Given the description of an element on the screen output the (x, y) to click on. 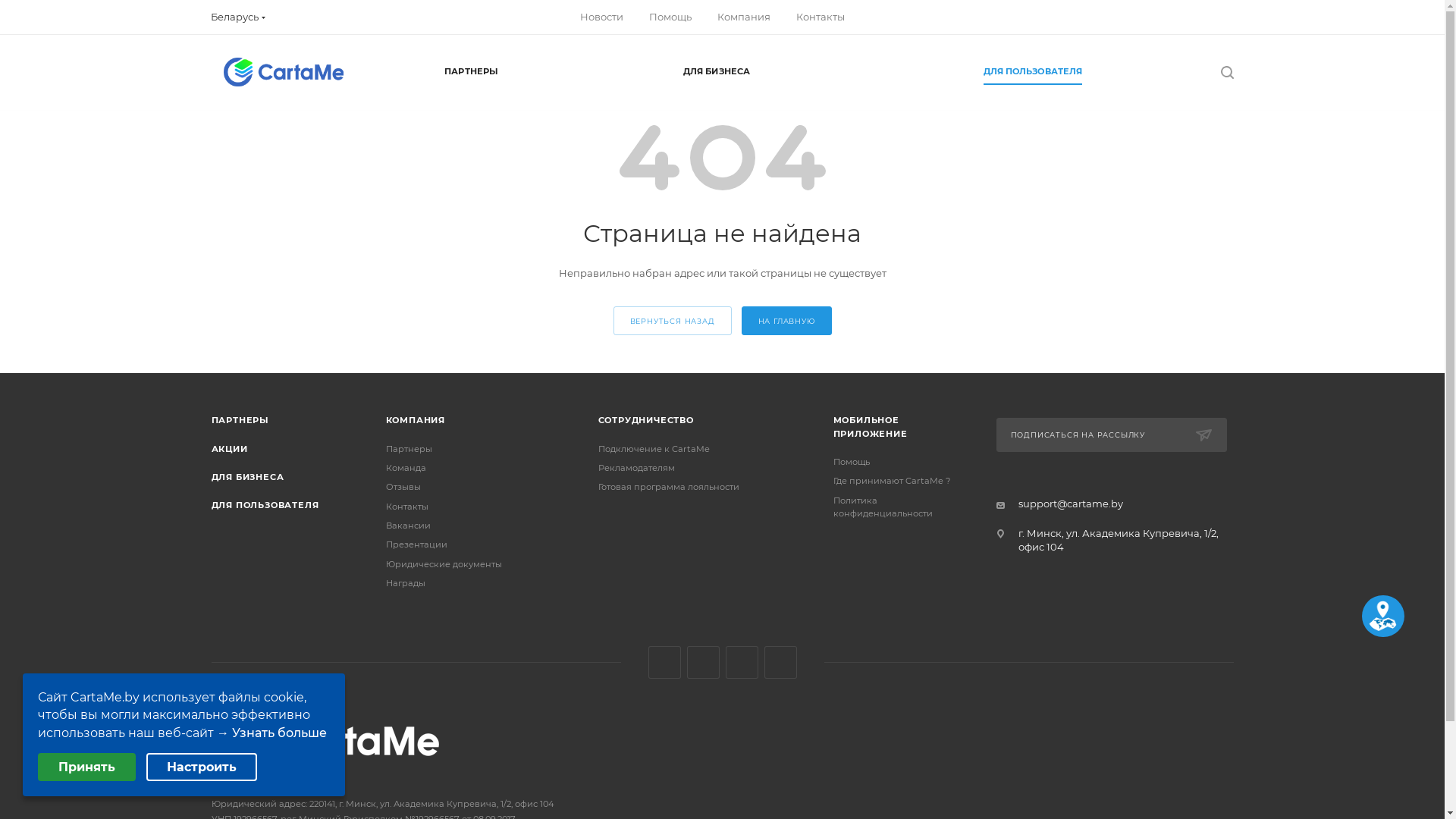
Facebook Element type: text (703, 662)
Instagram Element type: text (740, 662)
support@cartame.by Element type: text (1069, 503)
cartame.by Element type: hover (324, 740)
cartame.by Element type: hover (282, 71)
YouTube Element type: text (780, 662)
